Given the description of an element on the screen output the (x, y) to click on. 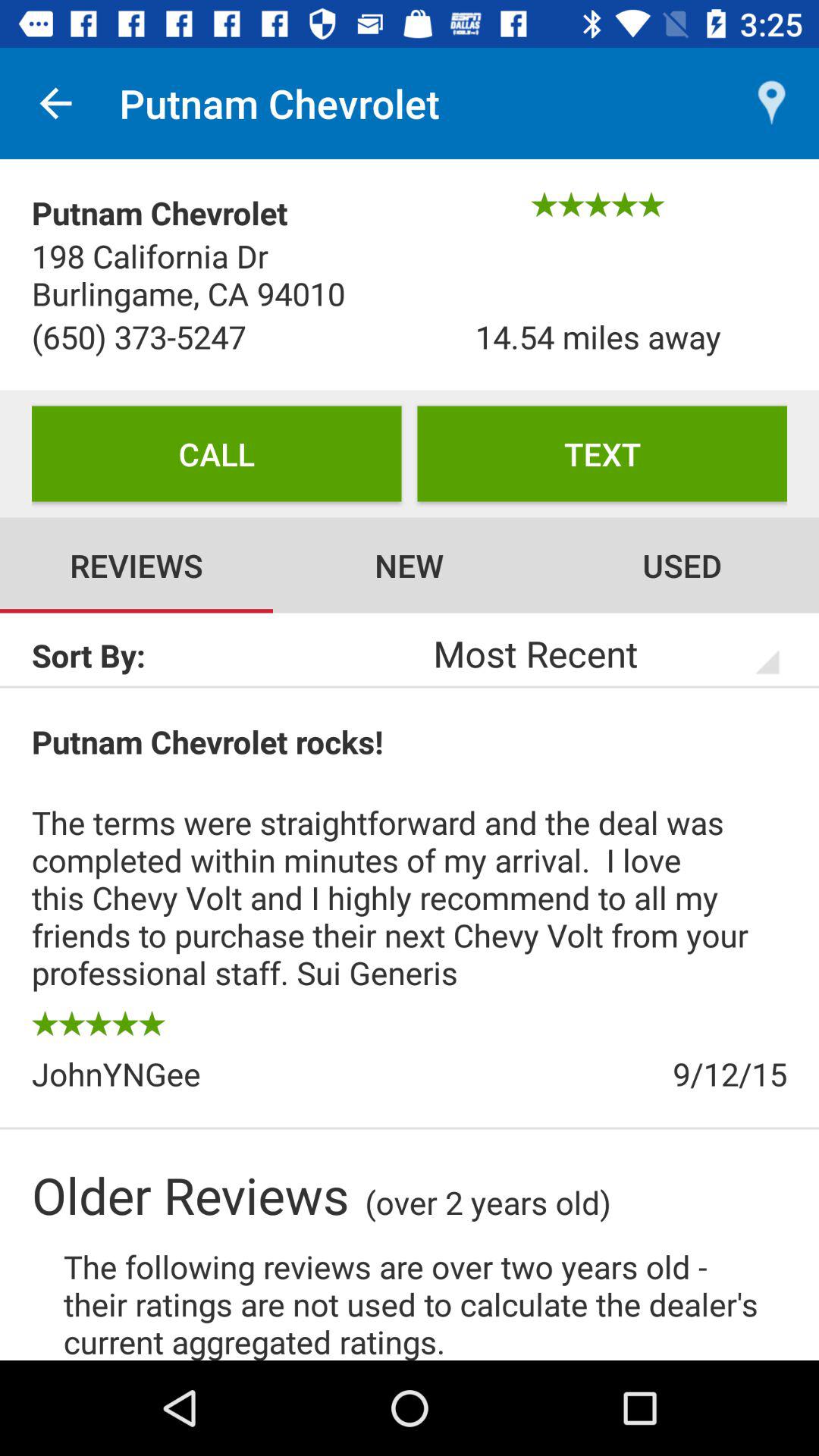
turn off the icon next to the 9/12/15 (220, 1073)
